Given the description of an element on the screen output the (x, y) to click on. 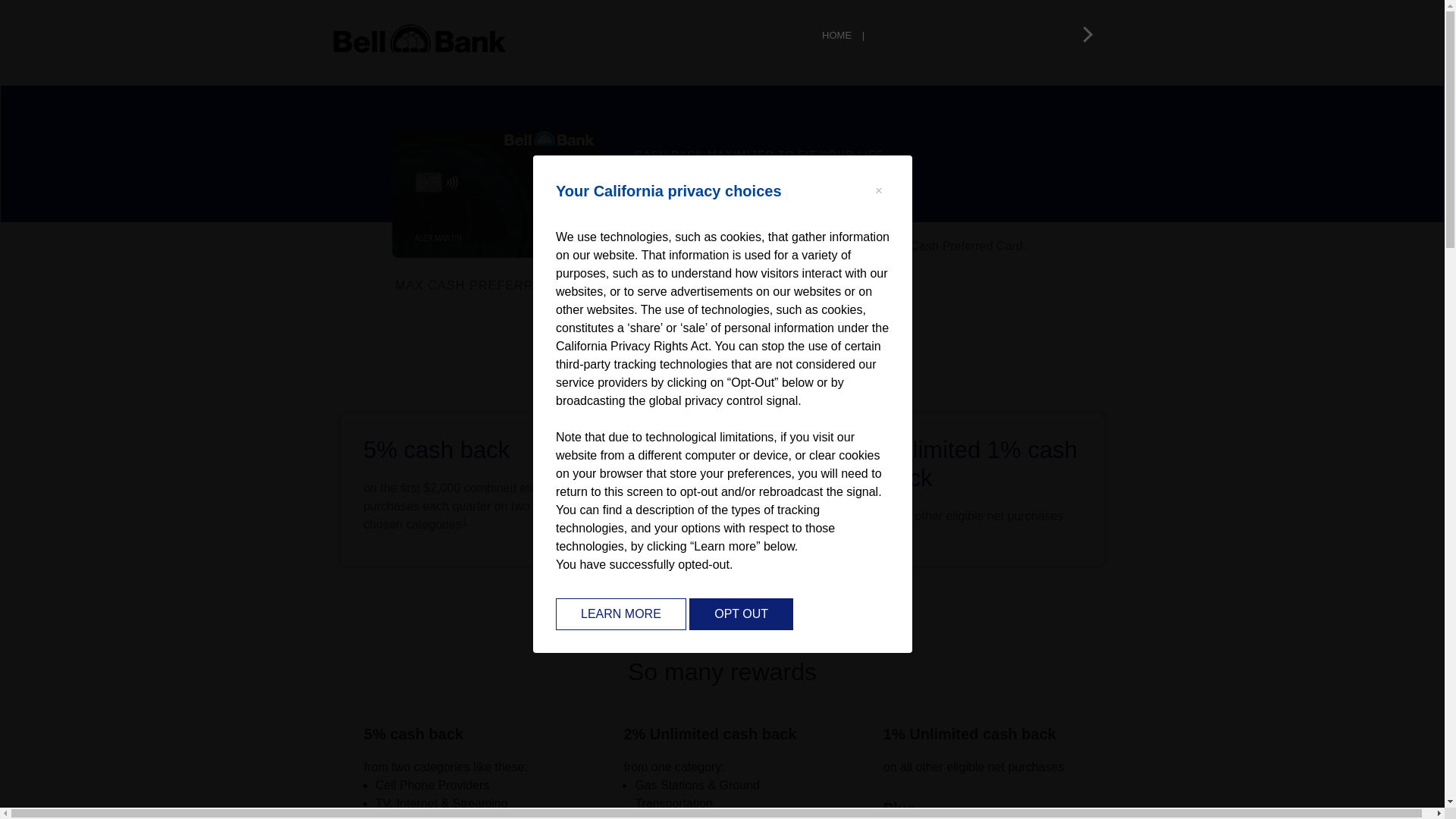
Bell Bank (419, 38)
OPT OUT (740, 613)
Bell Bank (722, 38)
Calculate Rewards (852, 290)
HOME (847, 35)
LEARN MORE (619, 613)
Bell Bank (494, 192)
